Given the description of an element on the screen output the (x, y) to click on. 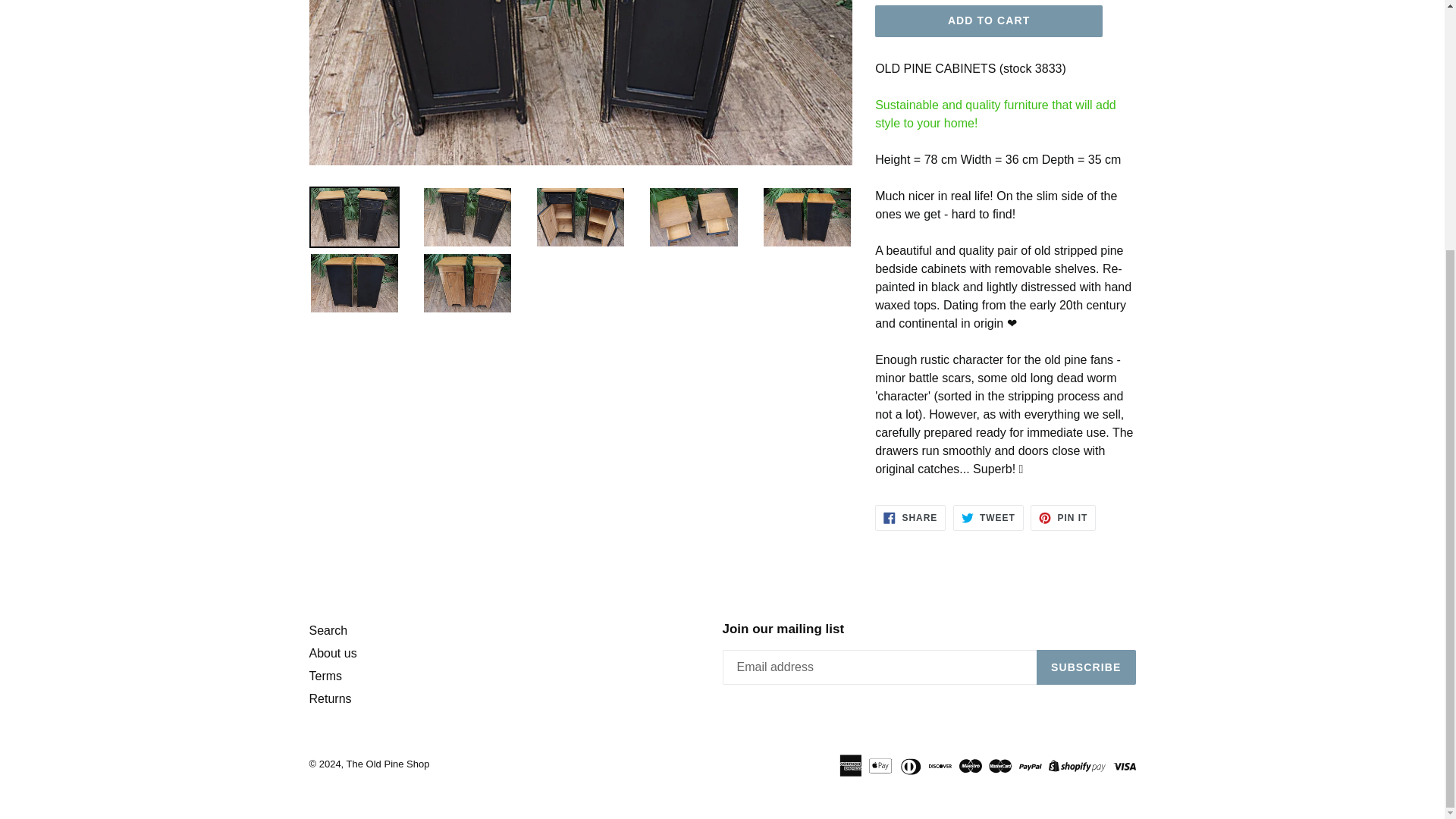
Share on Facebook (909, 517)
Pin on Pinterest (1063, 517)
Tweet on Twitter (988, 517)
